Given the description of an element on the screen output the (x, y) to click on. 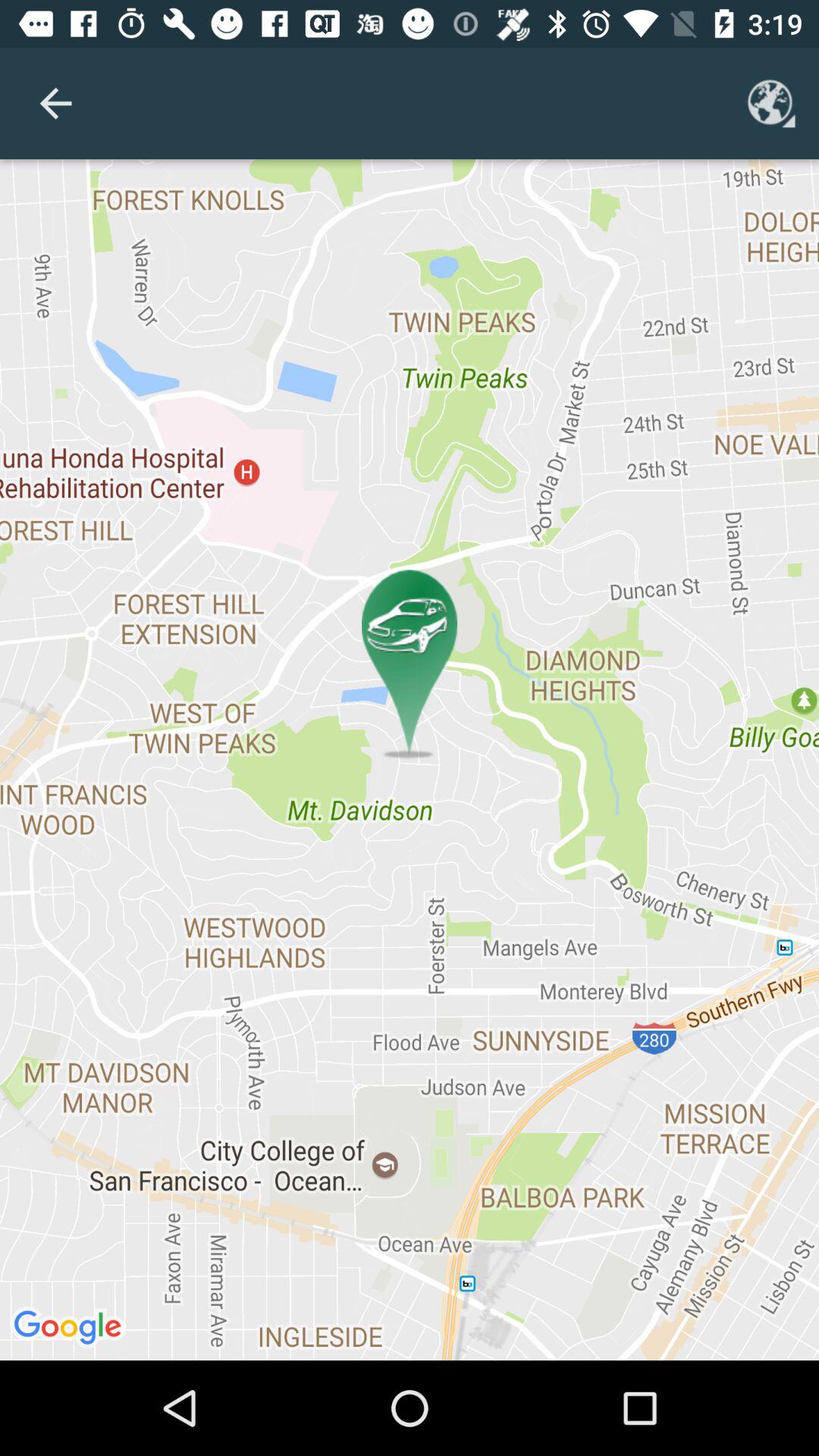
click globe (771, 103)
